Given the description of an element on the screen output the (x, y) to click on. 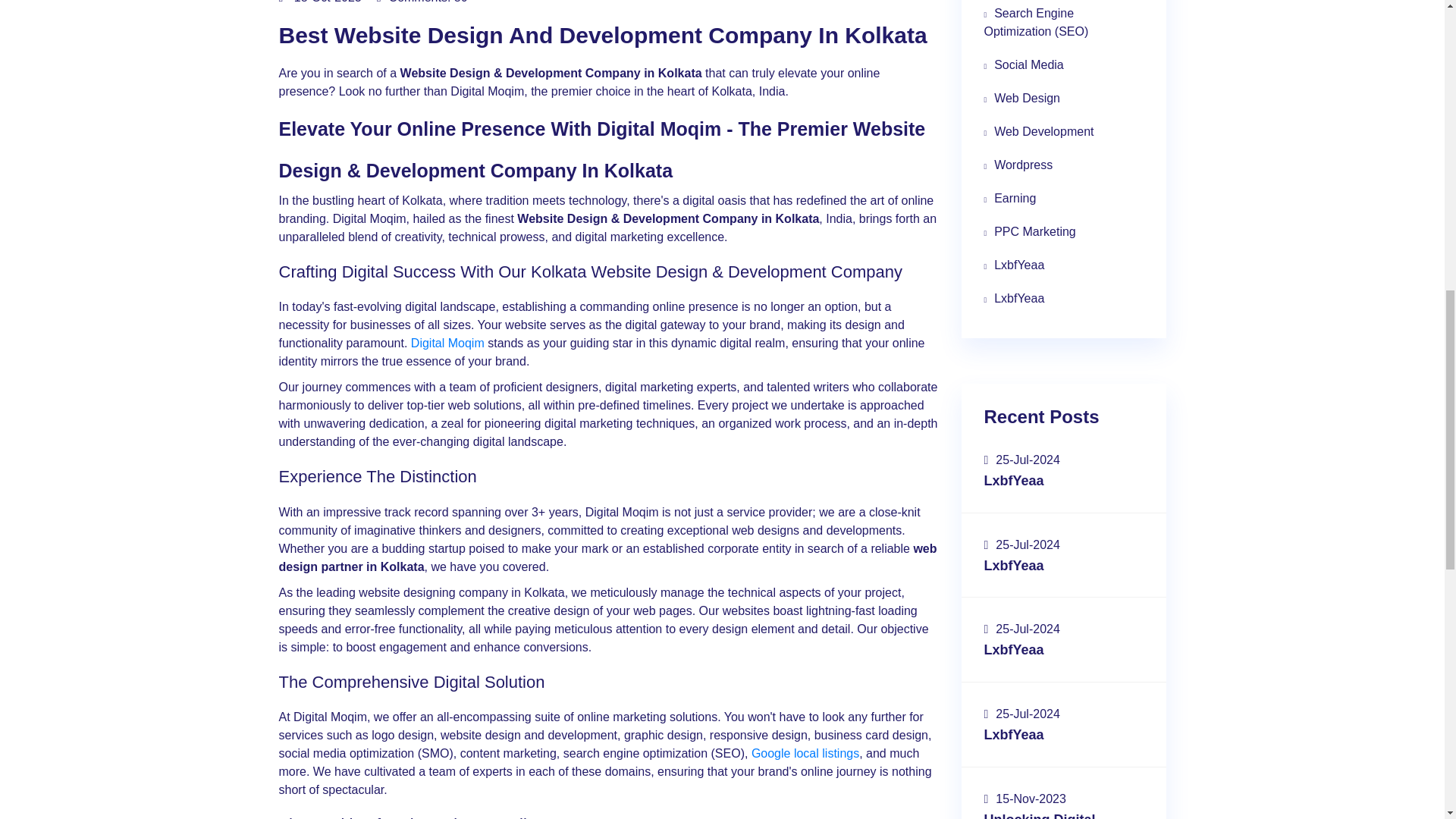
Social Media (1063, 64)
Wordpress (1063, 164)
Web Design (1063, 98)
Earning (1063, 198)
25-Jul-2024 (1021, 460)
PPC Marketing (1063, 231)
Web Development (1063, 131)
LxbfYeaa (1063, 264)
18-Oct-2023 (320, 2)
LxbfYeaa (1063, 298)
Digital Moqim (447, 342)
Comments: 80 (422, 2)
Google local listings (805, 753)
